Given the description of an element on the screen output the (x, y) to click on. 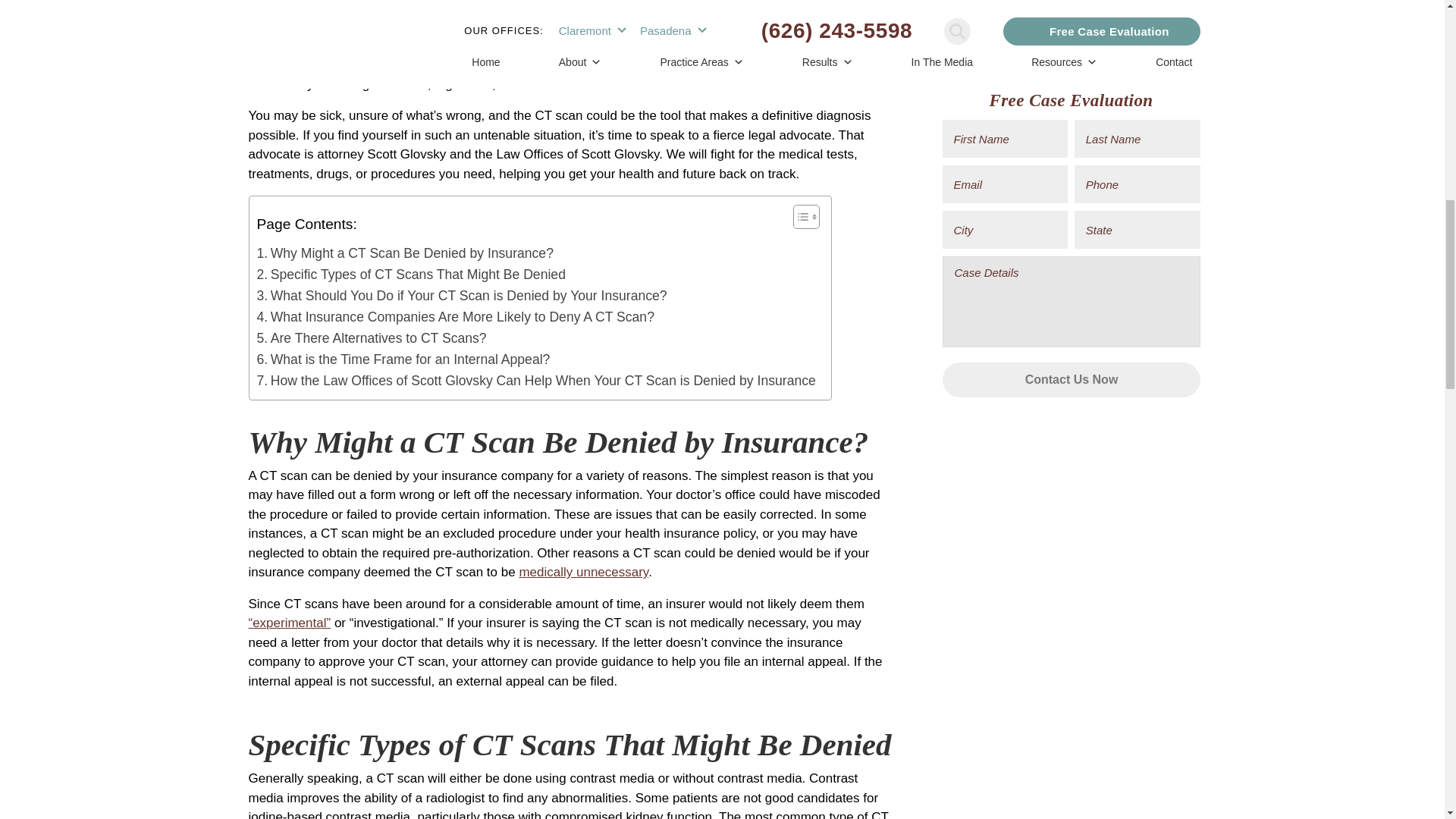
What is the Time Frame for an Internal Appeal? (403, 359)
Why Might a CT Scan Be Denied by Insurance? (404, 252)
Specific Types of CT Scans That Might Be Denied (410, 274)
What Insurance Companies Are More Likely to Deny A CT Scan? (454, 316)
Are There Alternatives to CT Scans? (371, 337)
Contact Us Now (1070, 133)
